Given the description of an element on the screen output the (x, y) to click on. 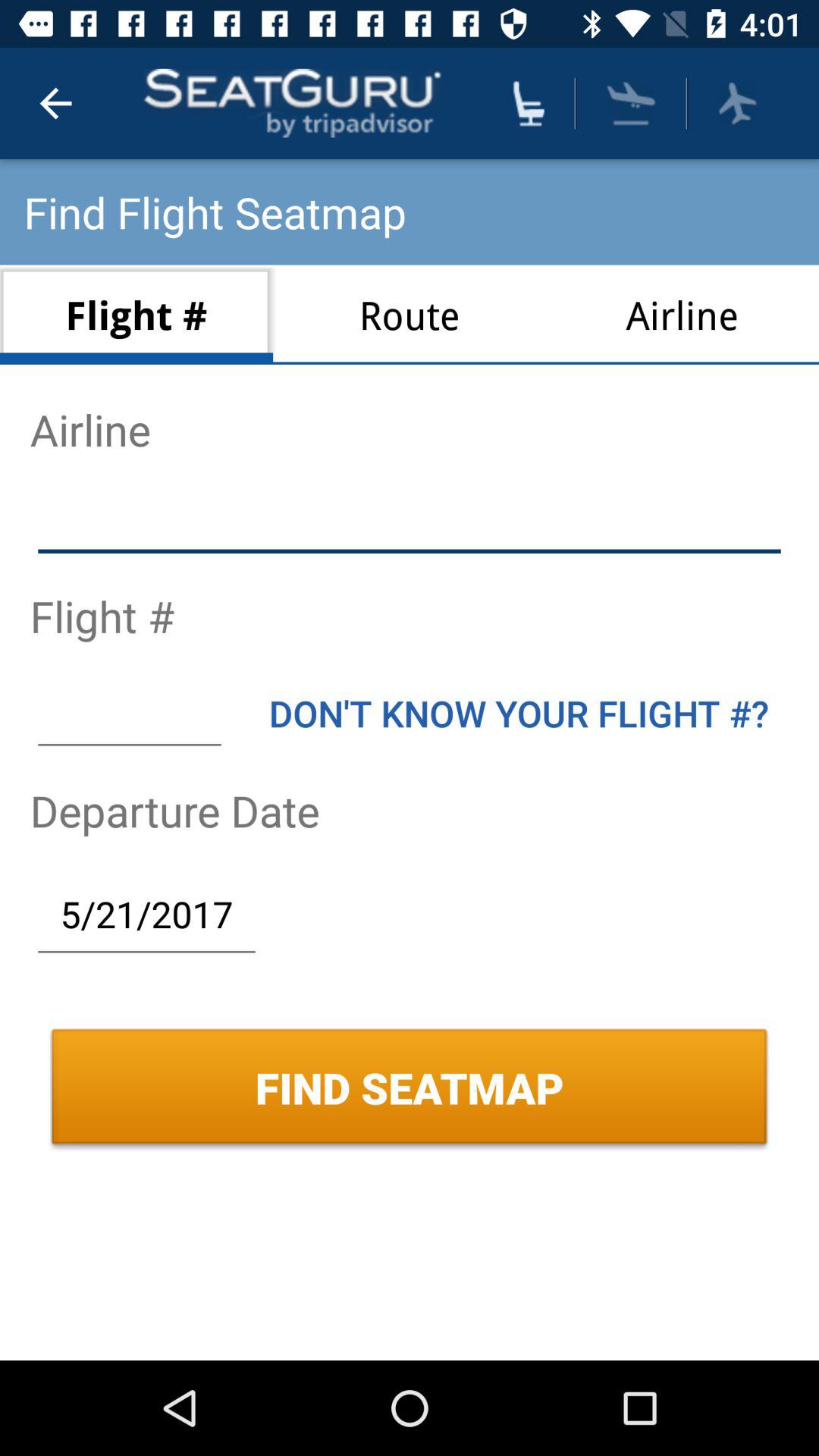
click icon above find flight seatmap (55, 103)
